Given the description of an element on the screen output the (x, y) to click on. 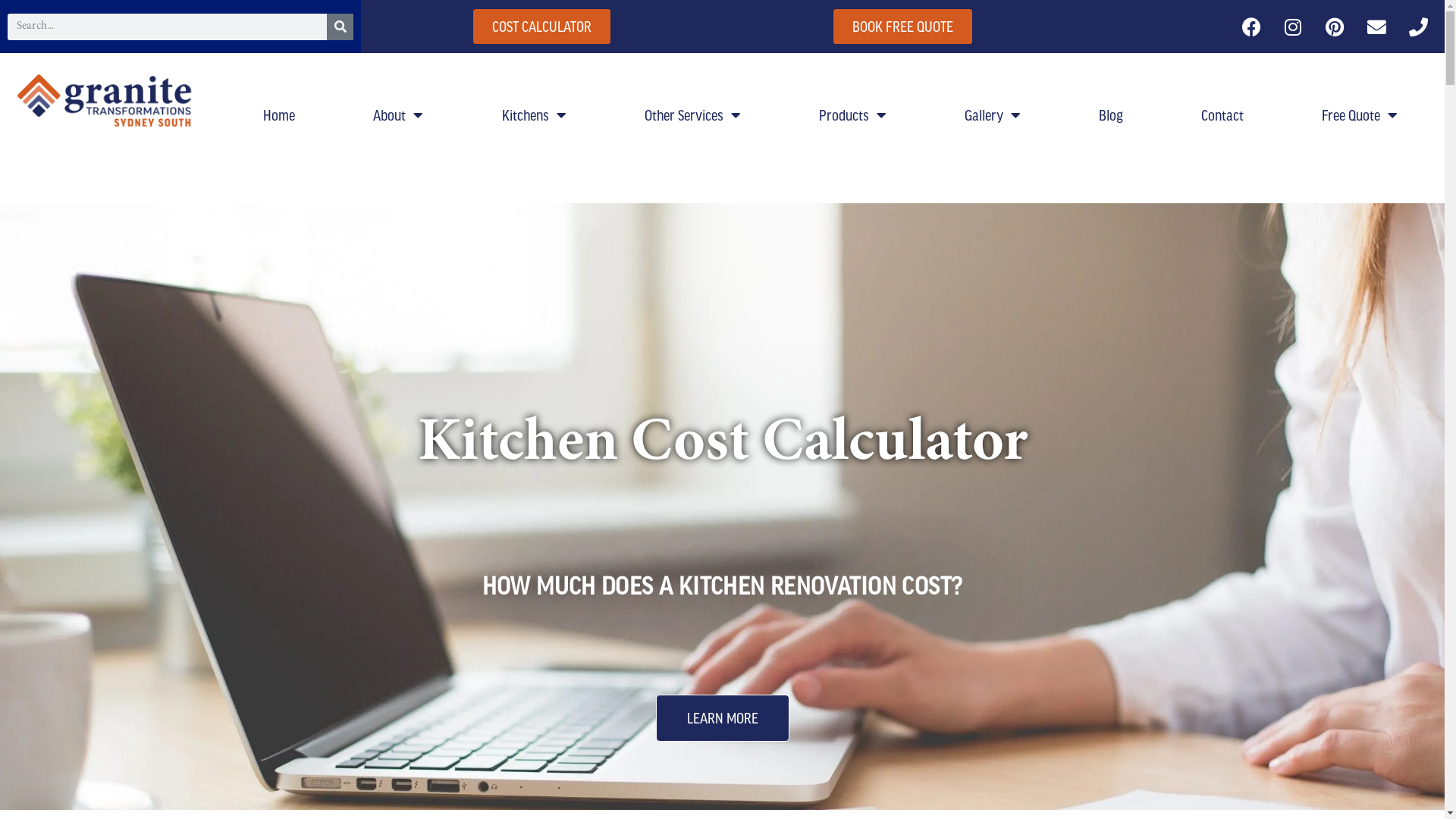
Kitchens Element type: text (533, 114)
LEARN MORE Element type: text (721, 717)
COST CALCULATOR Element type: text (541, 26)
Products Element type: text (852, 114)
Blog Element type: text (1111, 114)
Contact Element type: text (1222, 114)
About Element type: text (398, 114)
BOOK FREE QUOTE Element type: text (902, 26)
Free Quote Element type: text (1360, 114)
Home Element type: text (279, 114)
Gallery Element type: text (992, 114)
Other Services Element type: text (692, 114)
